Given the description of an element on the screen output the (x, y) to click on. 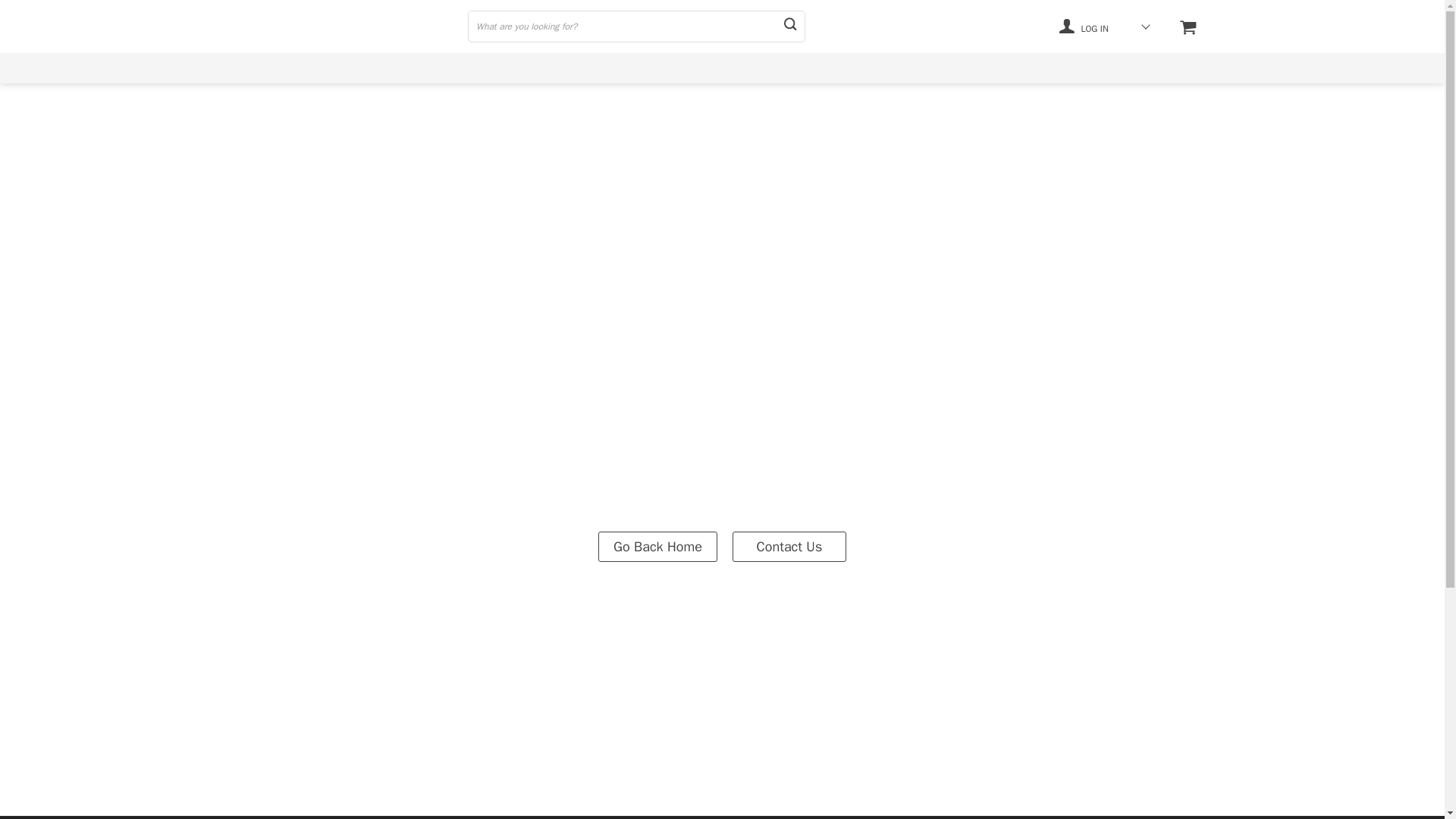
Contact Us (788, 545)
Go Back Home (657, 545)
LOG IN (1083, 25)
